Given the description of an element on the screen output the (x, y) to click on. 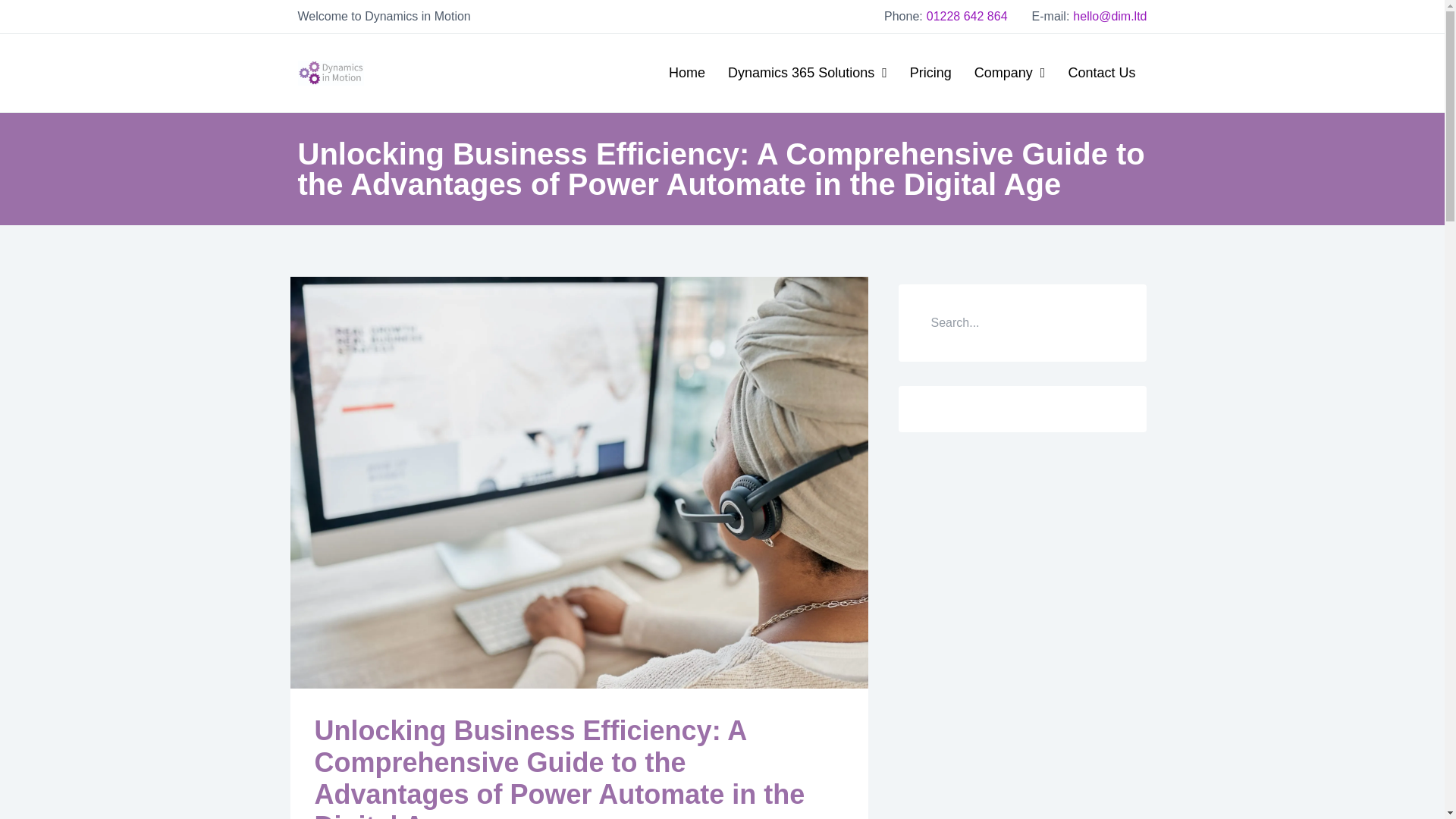
01228 642 864 (966, 16)
Pricing (930, 73)
Contact Us (1102, 73)
Dynamics 365 Solutions (807, 73)
Home (687, 73)
Company (1009, 73)
